Given the description of an element on the screen output the (x, y) to click on. 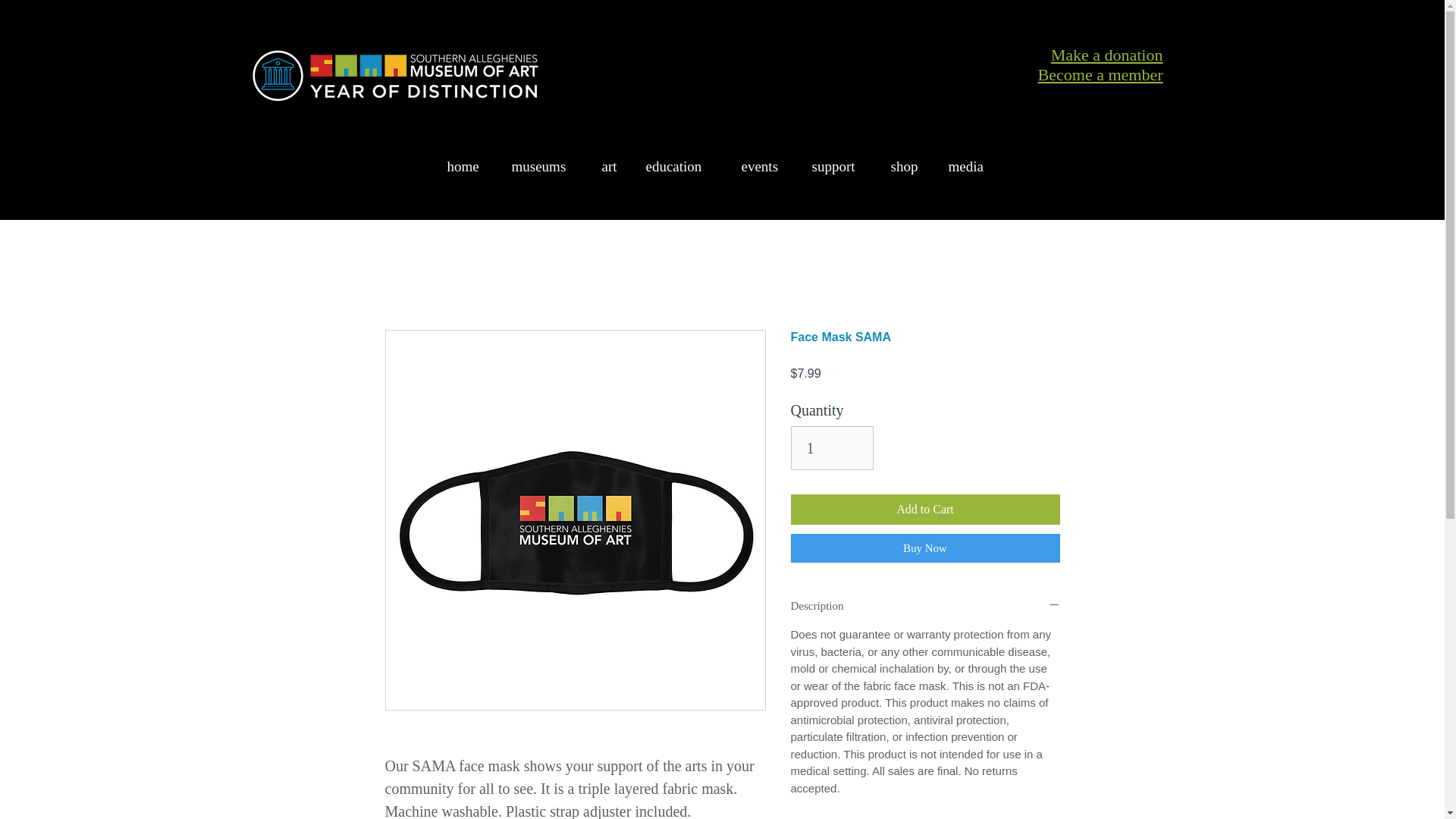
art (611, 166)
Become a member (1100, 74)
support (838, 166)
Make a donation (1107, 54)
events (764, 166)
education (681, 166)
1 (831, 447)
Add to Cart (924, 509)
shop (906, 166)
home (467, 166)
